Given the description of an element on the screen output the (x, y) to click on. 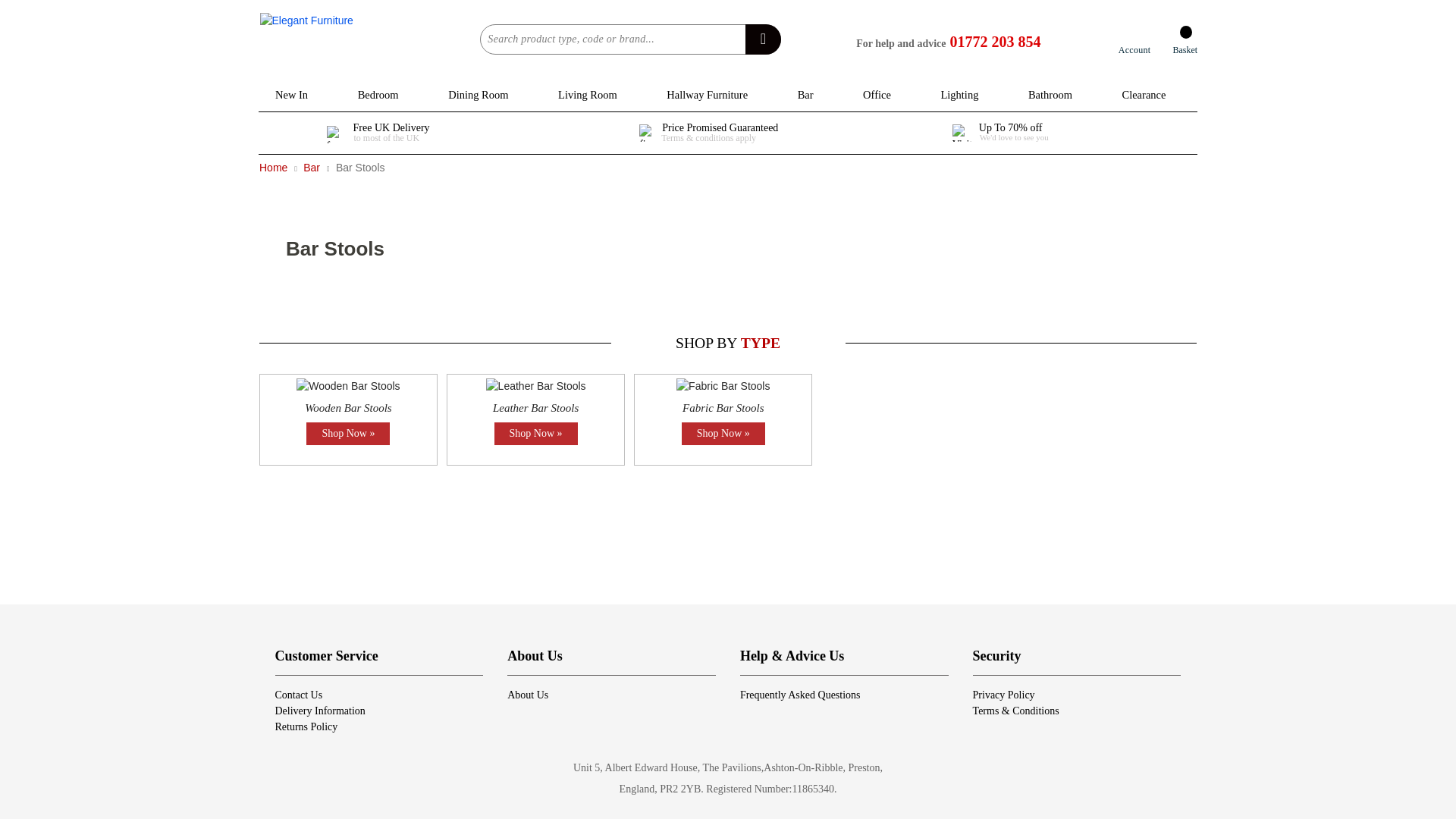
Elegant Furniture (320, 44)
Elegant Furniture (320, 39)
New In (290, 95)
Go to Home Page (274, 167)
01772 203 854 (995, 41)
Bedroom (378, 95)
Account (1133, 41)
